Given the description of an element on the screen output the (x, y) to click on. 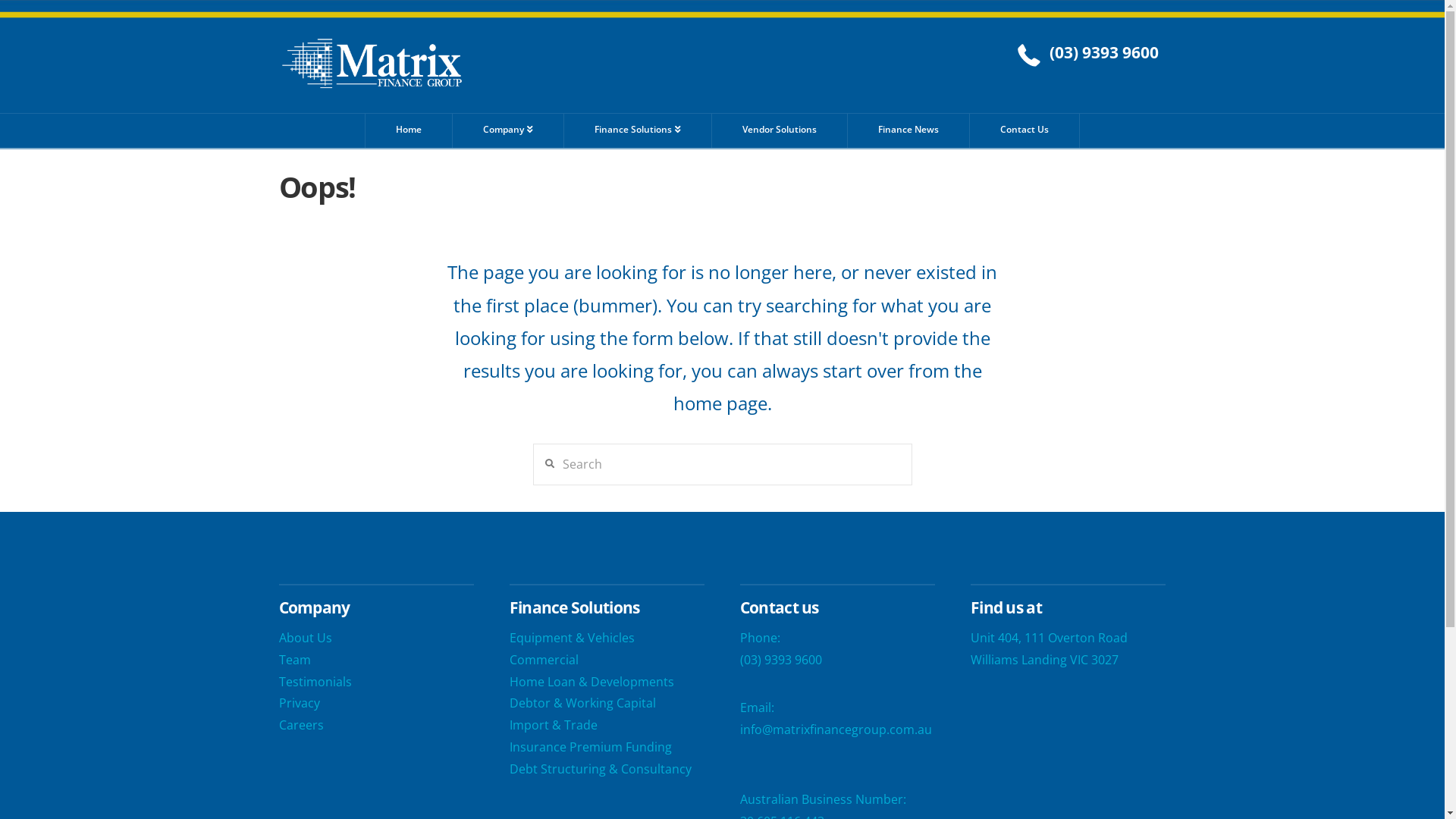
Privacy Element type: text (299, 702)
Equipment & Vehicles Element type: text (571, 637)
Email: Element type: text (757, 707)
Debtor & Working Capital Element type: text (582, 702)
Home Loan & Developments Element type: text (591, 681)
Company Element type: text (508, 130)
Finance Solutions Element type: text (638, 130)
Unit 404, 111 Overton Road
Williams Landing VIC 3027 Element type: text (1048, 648)
Team Element type: text (294, 659)
Home Element type: text (408, 130)
Import & Trade Element type: text (553, 724)
Vendor Solutions Element type: text (779, 130)
Insurance Premium Funding Element type: text (590, 746)
Commercial Element type: text (543, 659)
Careers Element type: text (301, 724)
Phone:
(03) 9393 9600 Element type: text (781, 648)
Testimonials Element type: text (315, 681)
About Us Element type: text (305, 637)
Finance News Element type: text (908, 130)
Debt Structuring & Consultancy Element type: text (600, 768)
info@matrixfinancegroup.com.au Element type: text (835, 729)
Contact Us Element type: text (1024, 130)
